Given the description of an element on the screen output the (x, y) to click on. 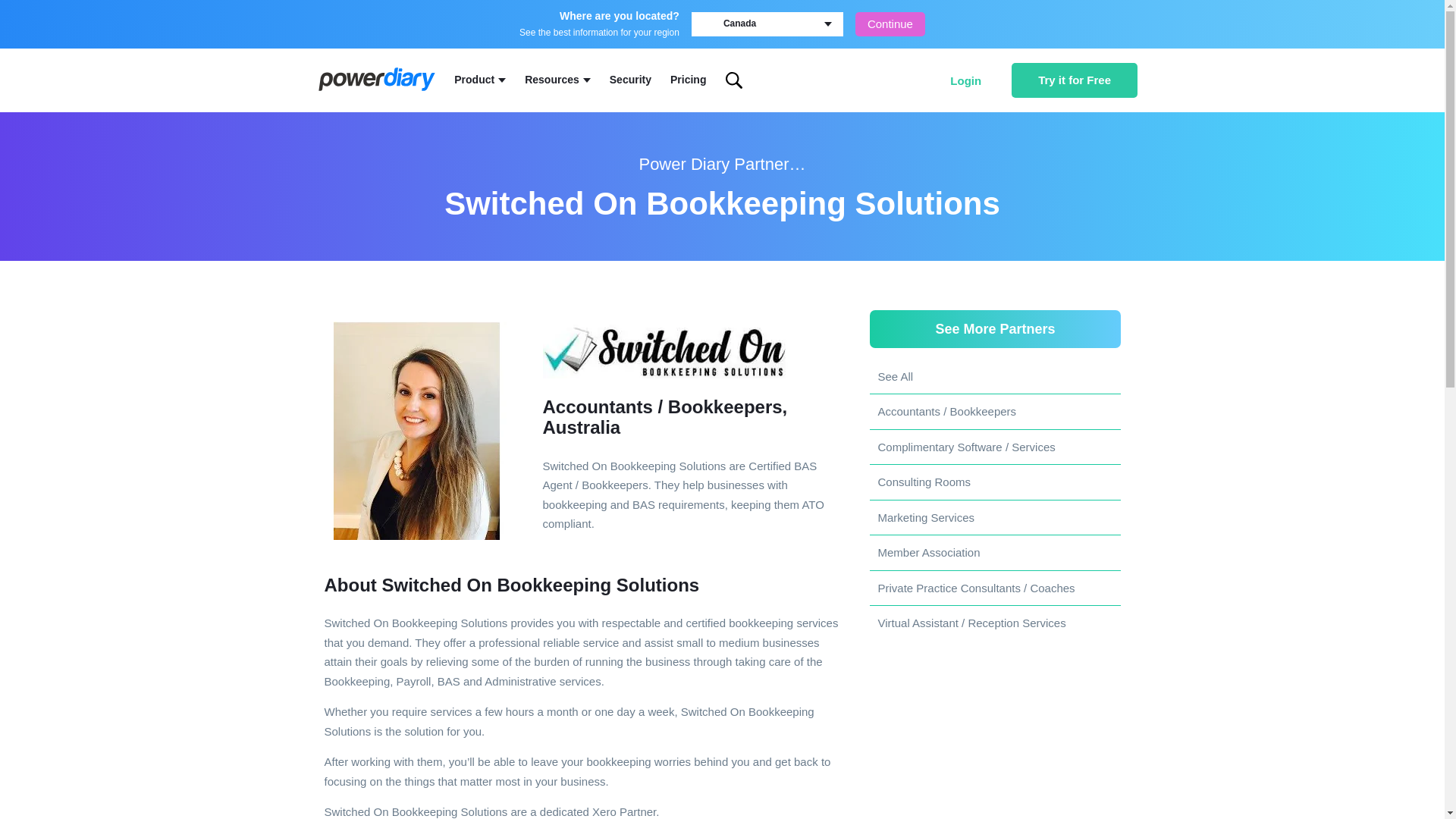
Login (965, 79)
Continue (890, 24)
Try it for Free (1074, 80)
Pricing (687, 80)
Security (630, 80)
